Given the description of an element on the screen output the (x, y) to click on. 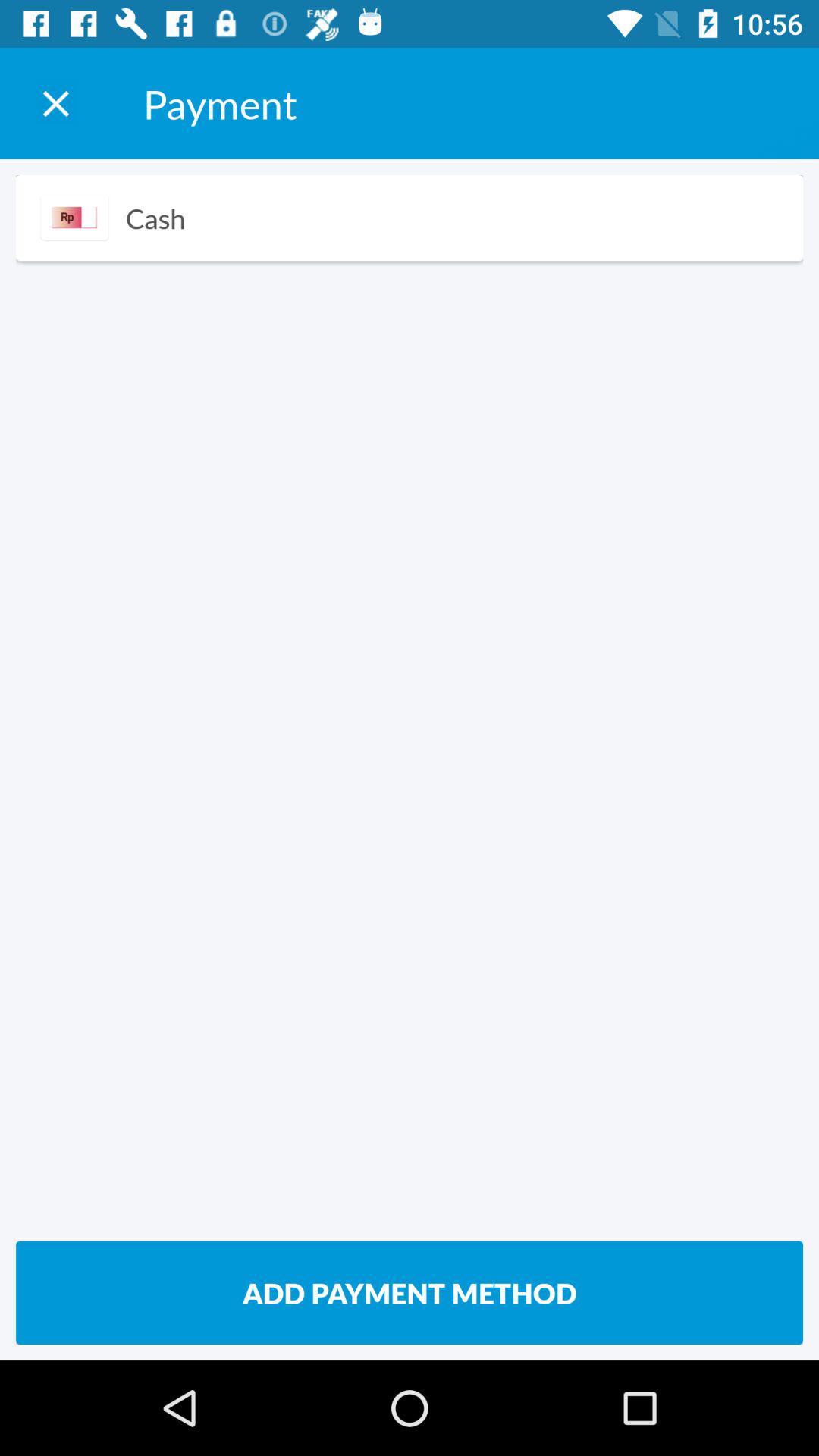
launch the icon to the left of the cash icon (74, 217)
